Given the description of an element on the screen output the (x, y) to click on. 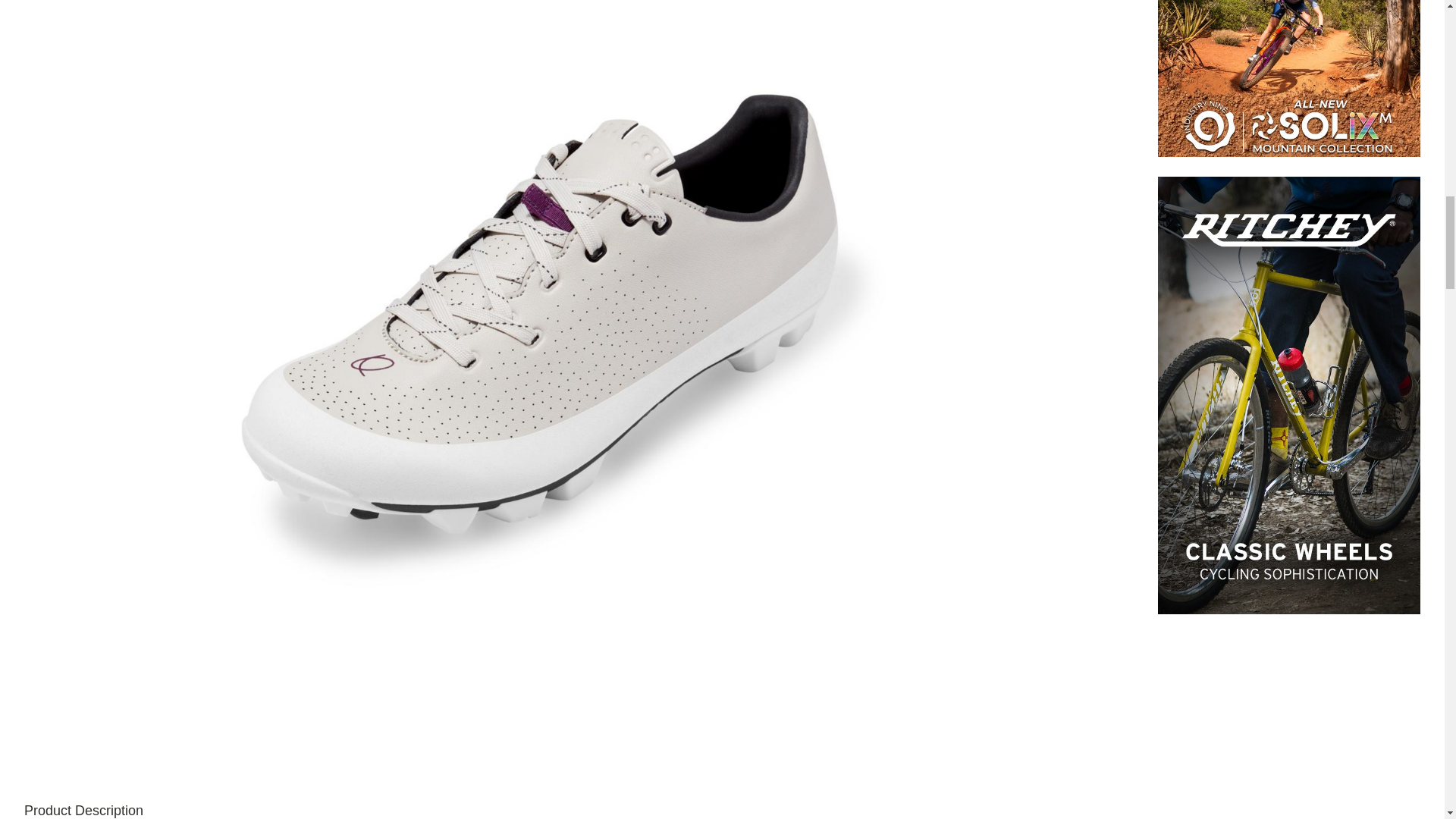
Industry Nine (1289, 78)
